Given the description of an element on the screen output the (x, y) to click on. 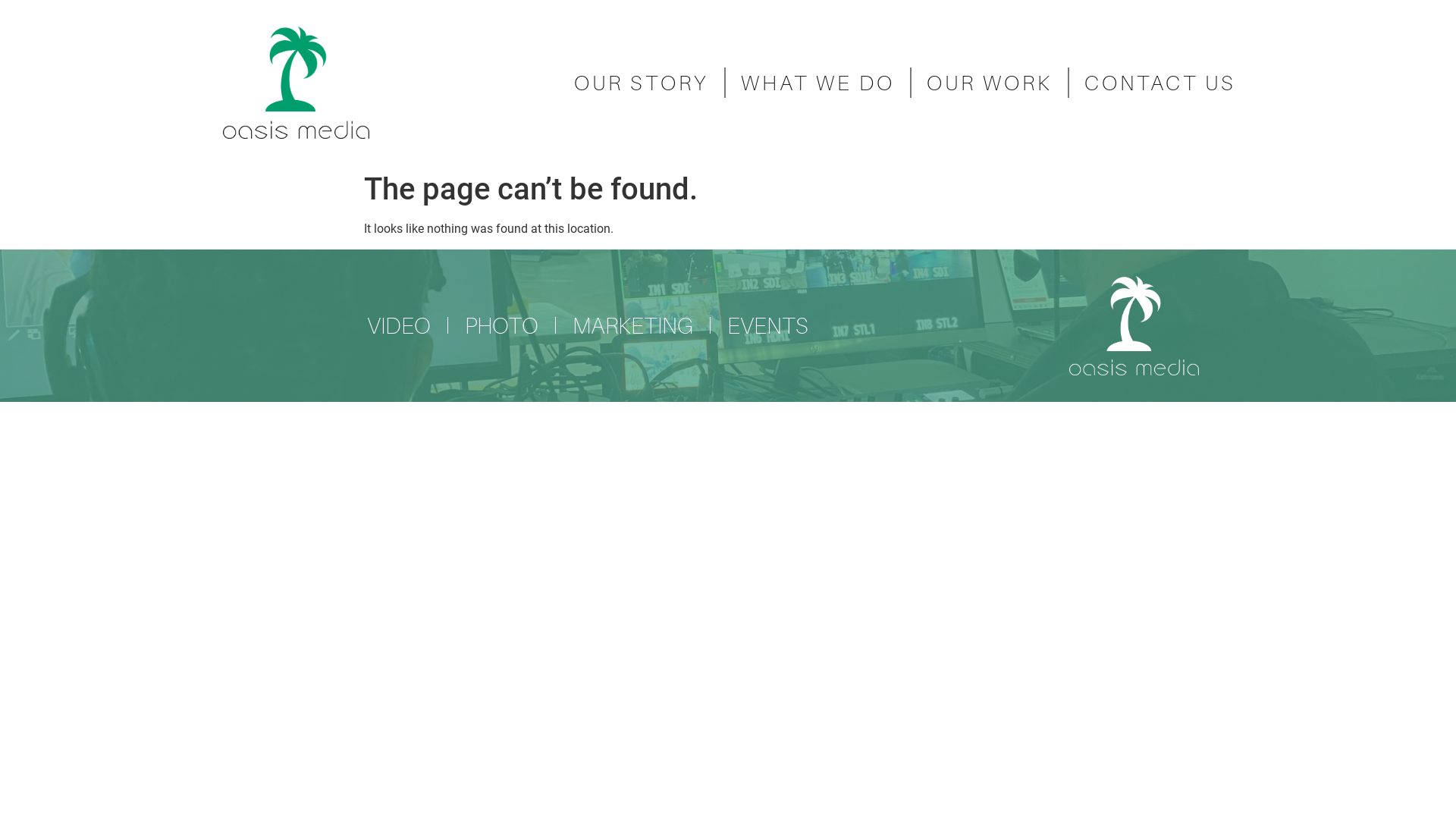
OUR WORK Element type: text (989, 82)
WHAT WE DO Element type: text (817, 82)
CONTACT US Element type: text (1160, 82)
OUR STORY Element type: text (641, 82)
